Given the description of an element on the screen output the (x, y) to click on. 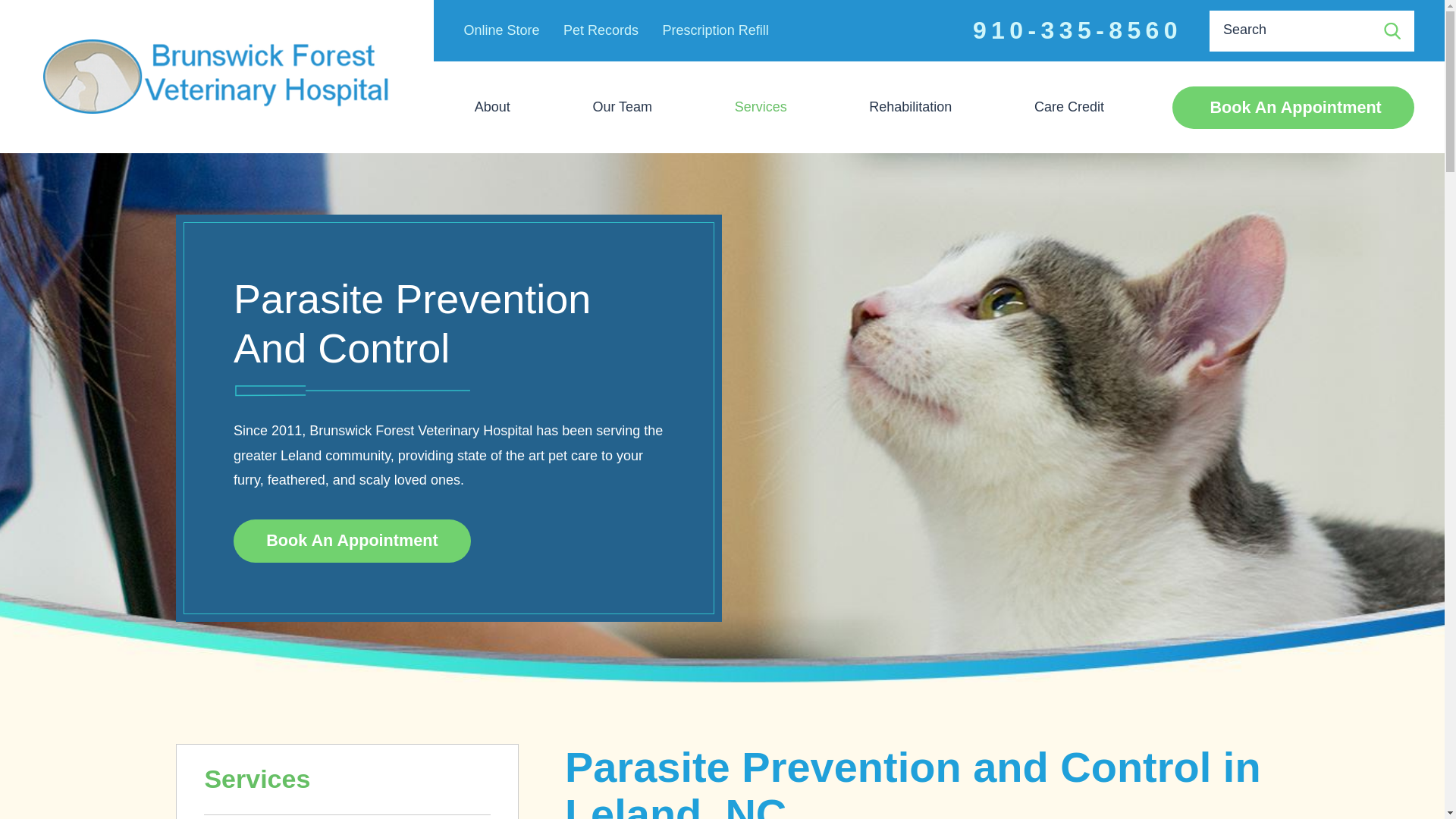
Online Store (502, 29)
Services (760, 107)
Pet Records (601, 29)
About (492, 107)
910-335-8560 (1077, 30)
Our Team (622, 107)
Prescription Refill (715, 29)
Search Our Site (1391, 30)
Brunswick Forest Veterinary Hospital (216, 76)
Search Icon (1391, 30)
